Given the description of an element on the screen output the (x, y) to click on. 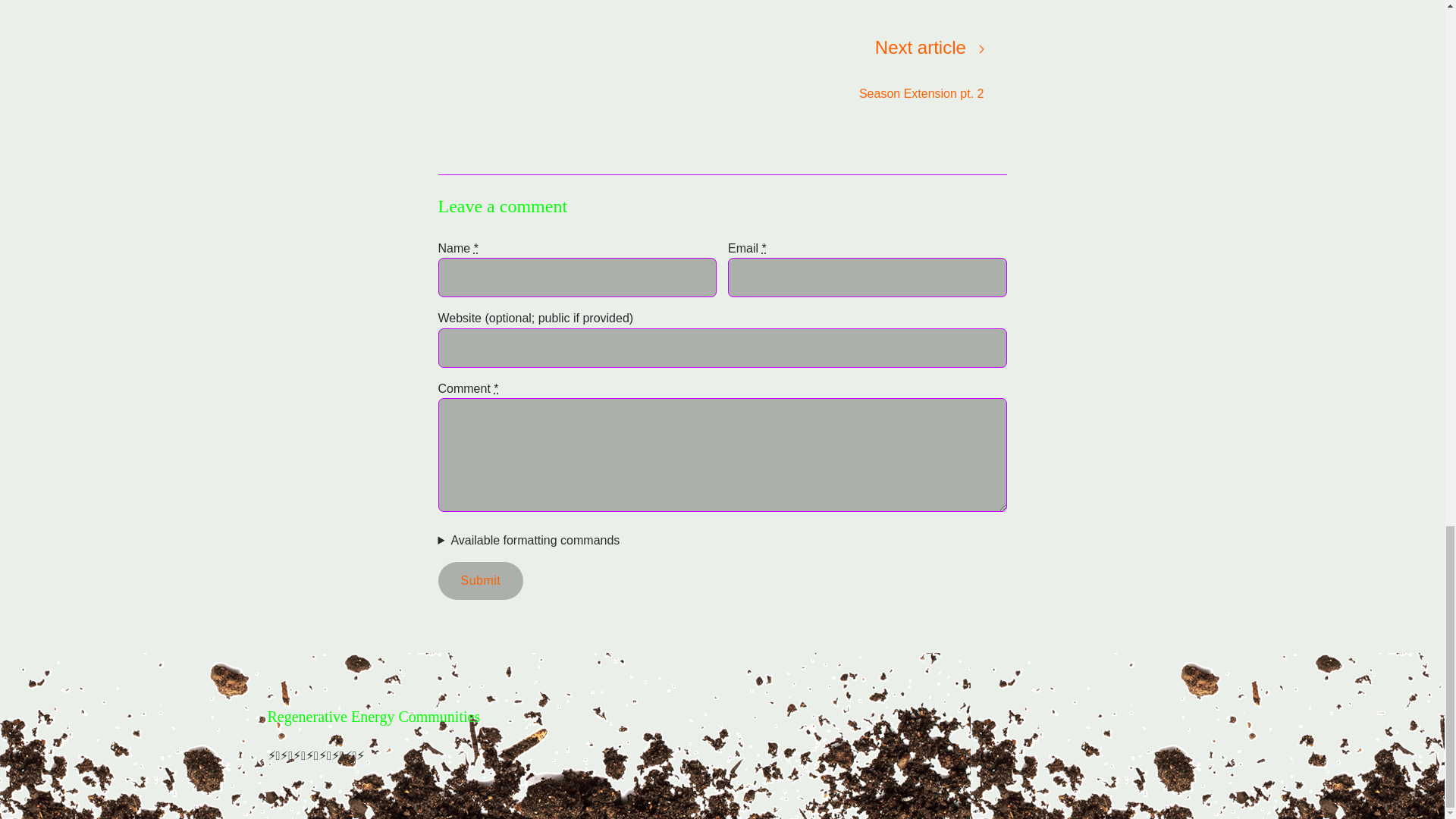
Submit (722, 68)
Season Extension pt. 2 (481, 580)
